Given the description of an element on the screen output the (x, y) to click on. 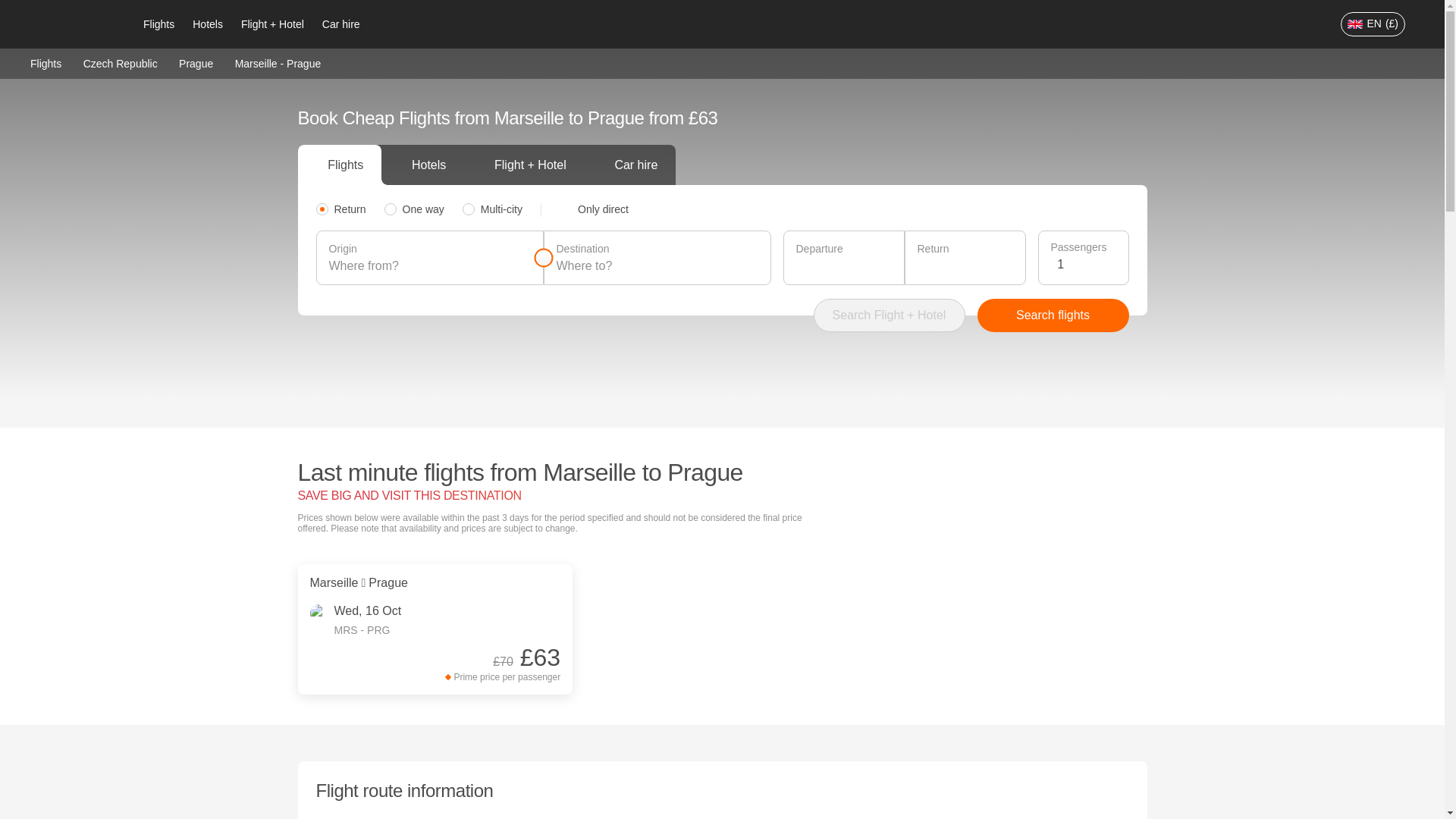
Car hire (341, 24)
Prague (195, 62)
Marseille - Prague (277, 63)
Flights (158, 24)
Hotels (207, 24)
1 (1086, 263)
Search flights (1052, 315)
Flights (45, 62)
Czech Republic (119, 62)
